Given the description of an element on the screen output the (x, y) to click on. 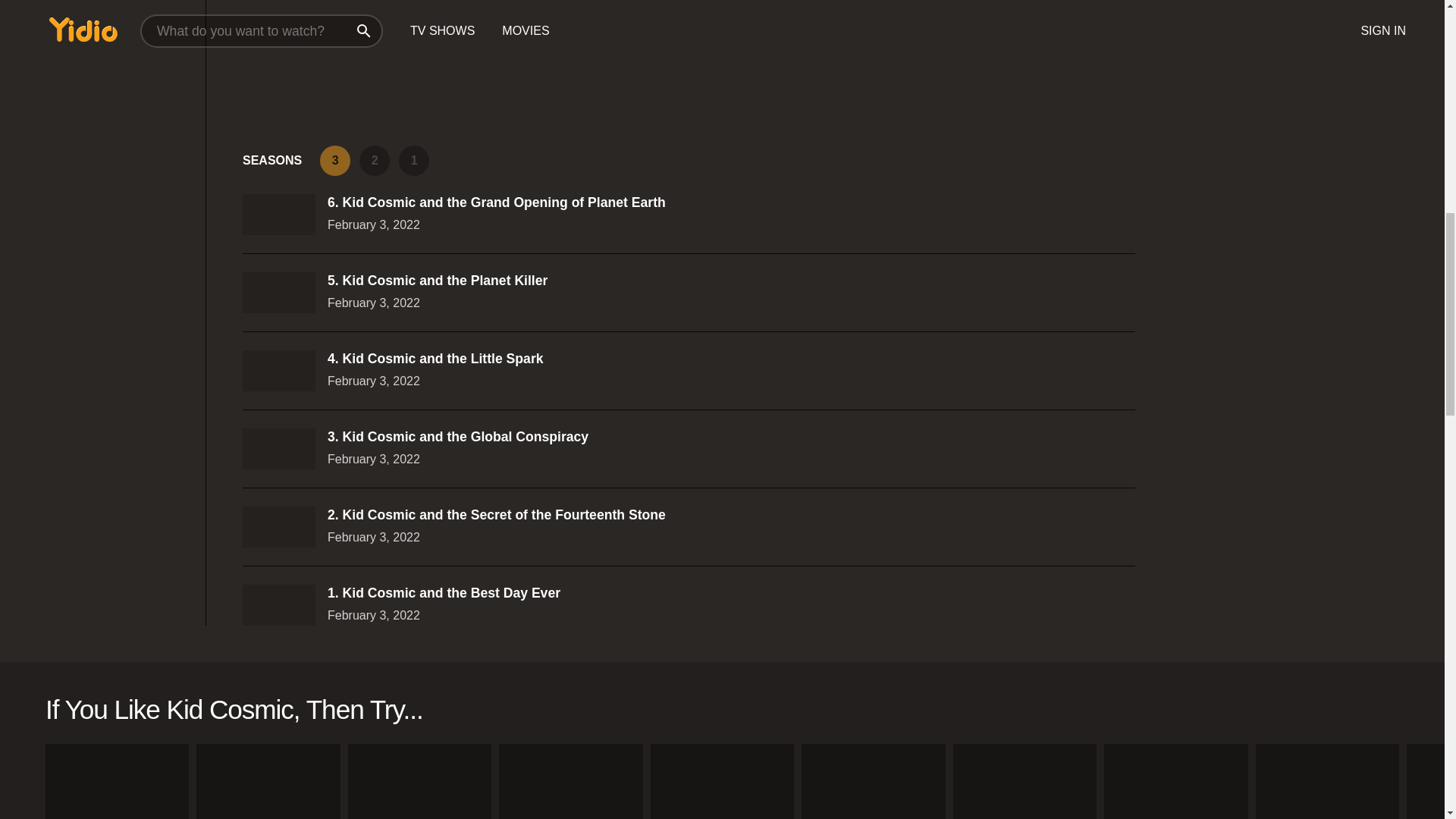
X-Men: The Animated Series (1024, 781)
Spirit Riding Free (570, 781)
Monsters vs. Aliens (873, 781)
Wondla (117, 781)
The Lion Guard (419, 781)
X-Men: The Animated Series (1024, 781)
Beyblade (1327, 781)
Monsters Vs. Aliens (873, 781)
Dino Ranch (267, 781)
Spirit Riding Free (570, 781)
